Given the description of an element on the screen output the (x, y) to click on. 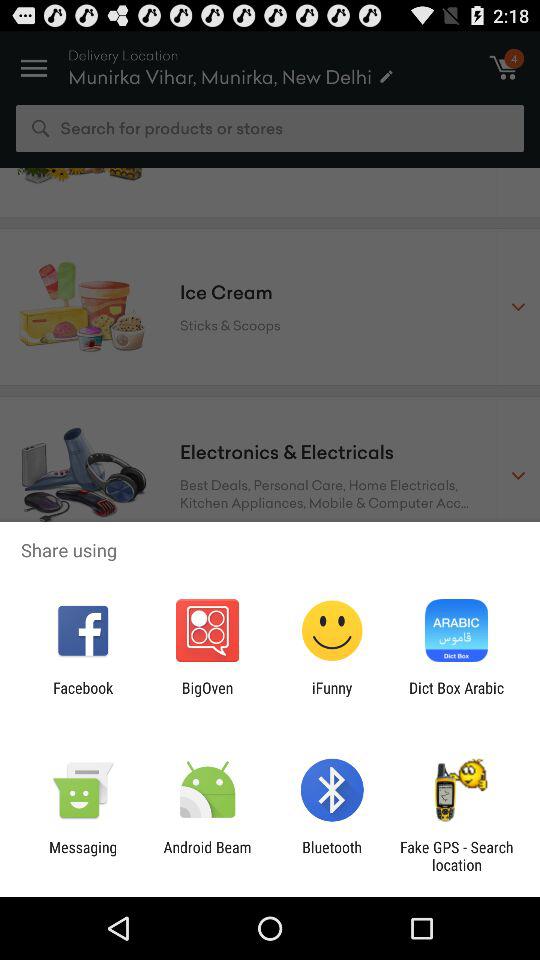
select messaging item (83, 856)
